Given the description of an element on the screen output the (x, y) to click on. 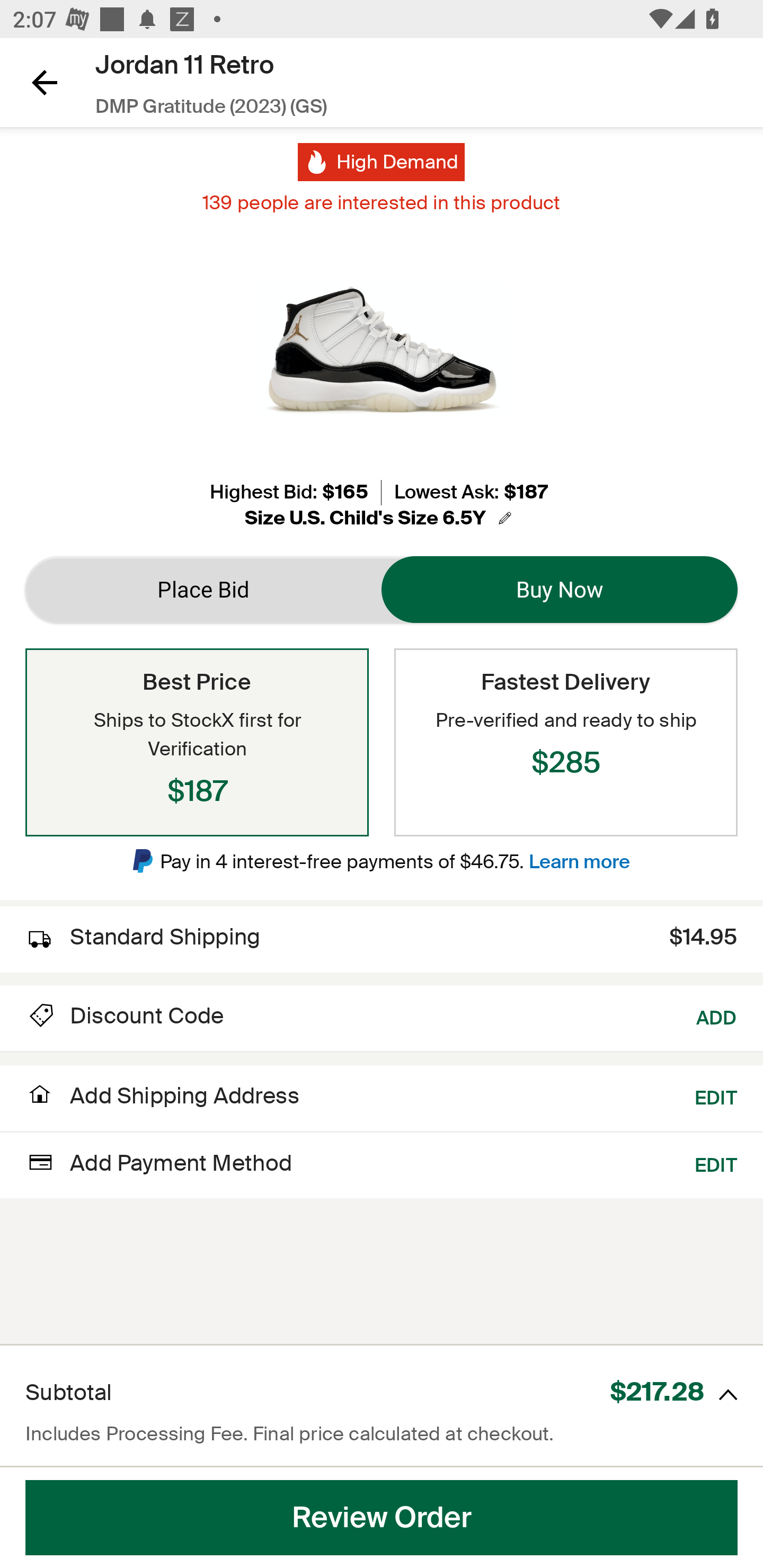
Navigate up (44, 82)
Sneaker Image (381, 350)
Size U.S. Child's Size 6.5Y An image (380, 517)
Add Discount Code Discount Code (124, 1016)
ADD (717, 1016)
Edit Payment Icon Add Shipping Address (162, 1100)
EDIT (716, 1095)
Edit Payment Icon Add Payment Method (158, 1162)
EDIT (716, 1162)
Review Order (381, 1517)
